Given the description of an element on the screen output the (x, y) to click on. 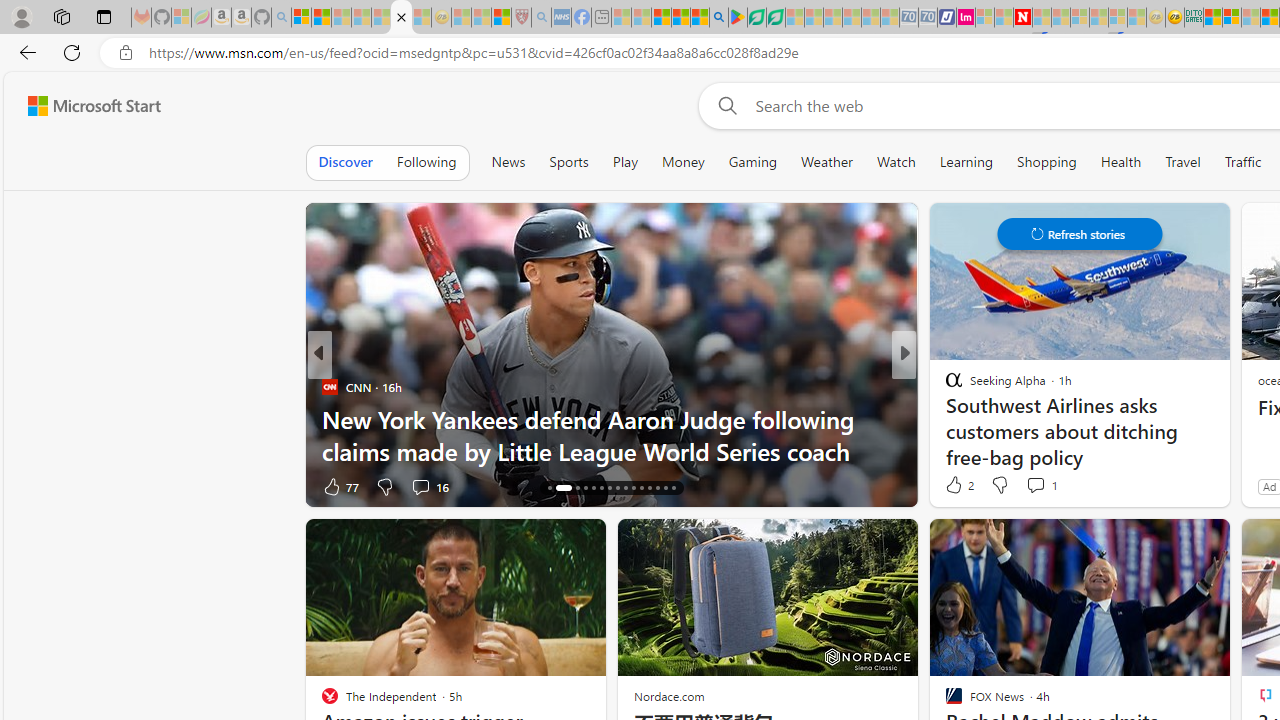
136 Like (959, 486)
View comments 25 Comment (1044, 486)
View comments 7 Comment (1042, 485)
AutomationID: tab-19 (585, 487)
View comments 4 Comment (1042, 485)
